Given the description of an element on the screen output the (x, y) to click on. 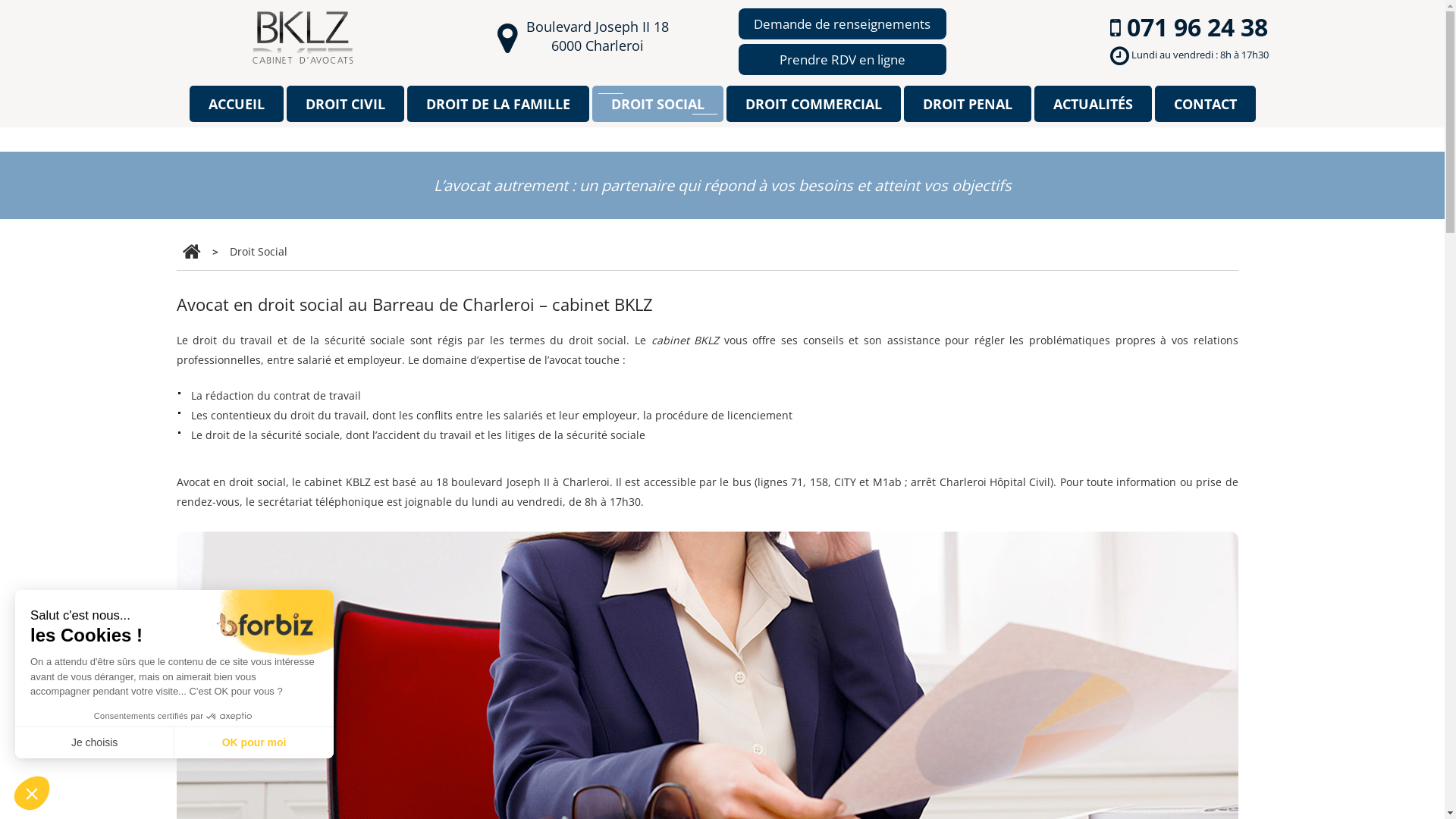
DROIT COMMERCIAL Element type: text (813, 103)
Prendre RDV en ligne Element type: text (842, 59)
Demande de renseignements Element type: text (842, 23)
071 96 24 38 Element type: text (1196, 26)
DROIT DE LA FAMILLE Element type: text (497, 103)
DROIT PENAL Element type: text (967, 103)
ACCUEIL Element type: text (236, 103)
DROIT SOCIAL Element type: text (656, 103)
CONTACT Element type: text (1204, 103)
DROIT CIVIL Element type: text (345, 103)
